Given the description of an element on the screen output the (x, y) to click on. 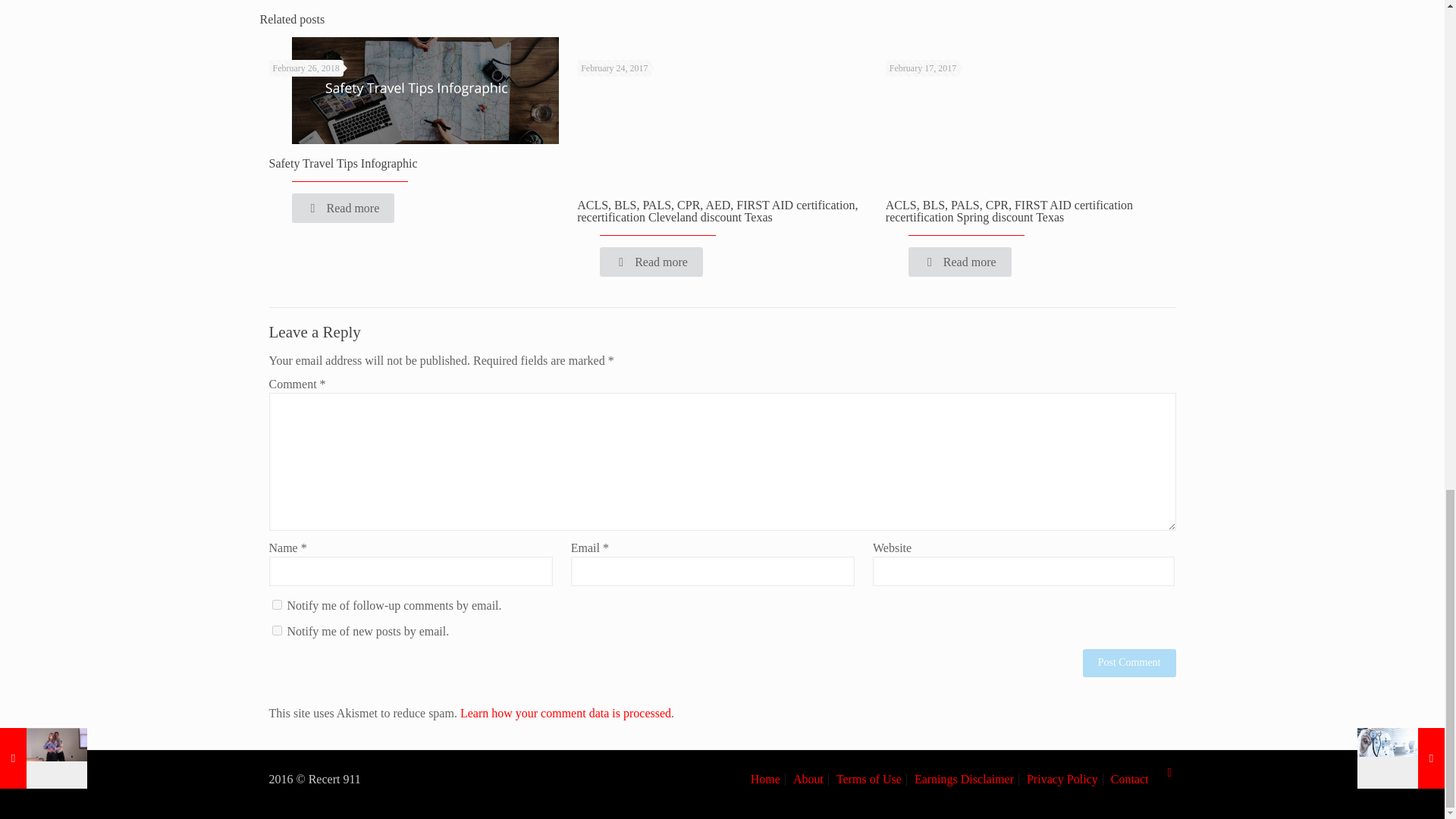
Post Comment (1129, 663)
subscribe (275, 630)
subscribe (275, 604)
